Given the description of an element on the screen output the (x, y) to click on. 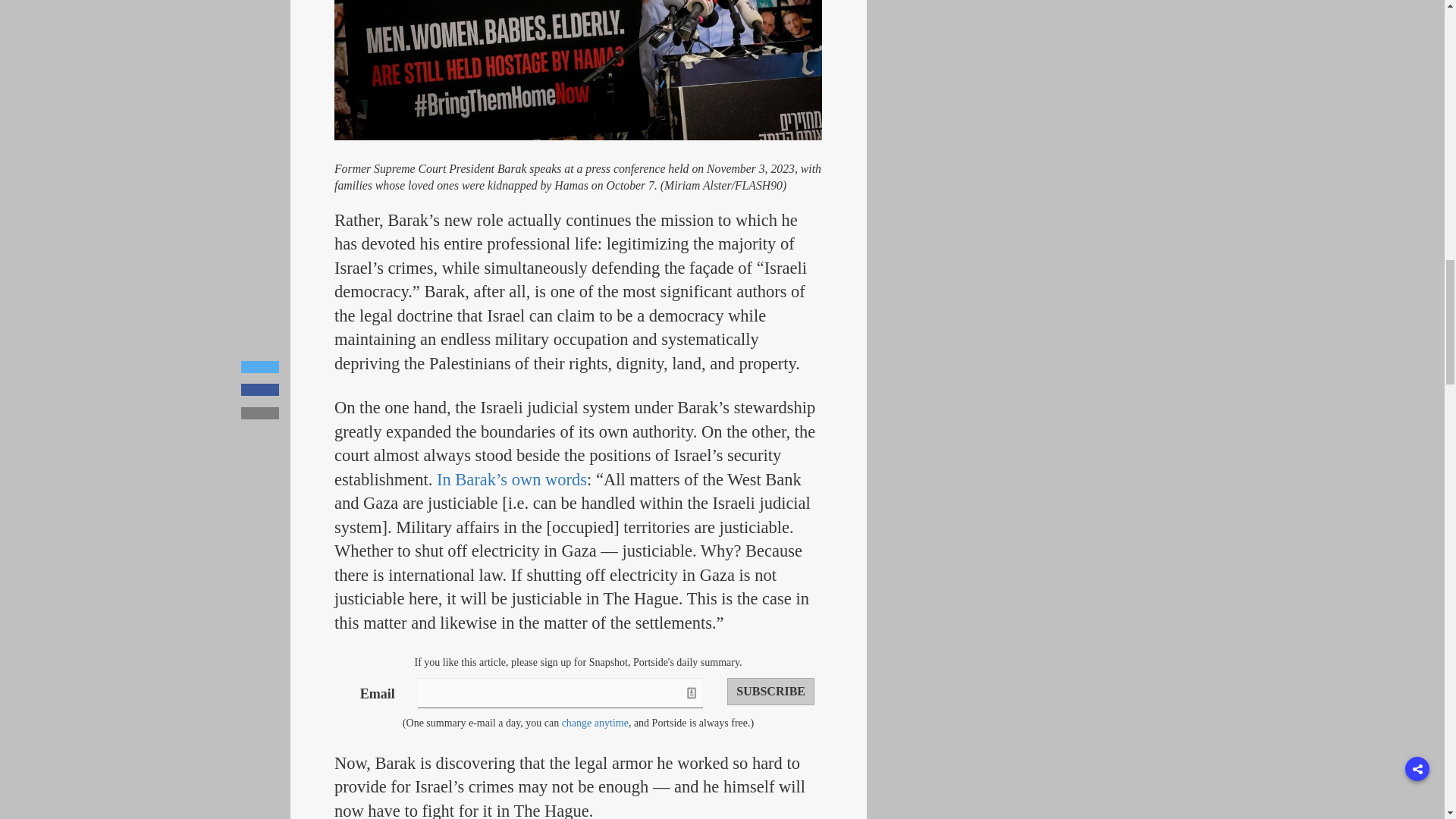
change anytime (595, 722)
Subscribe (769, 691)
Subscribe (769, 691)
